Given the description of an element on the screen output the (x, y) to click on. 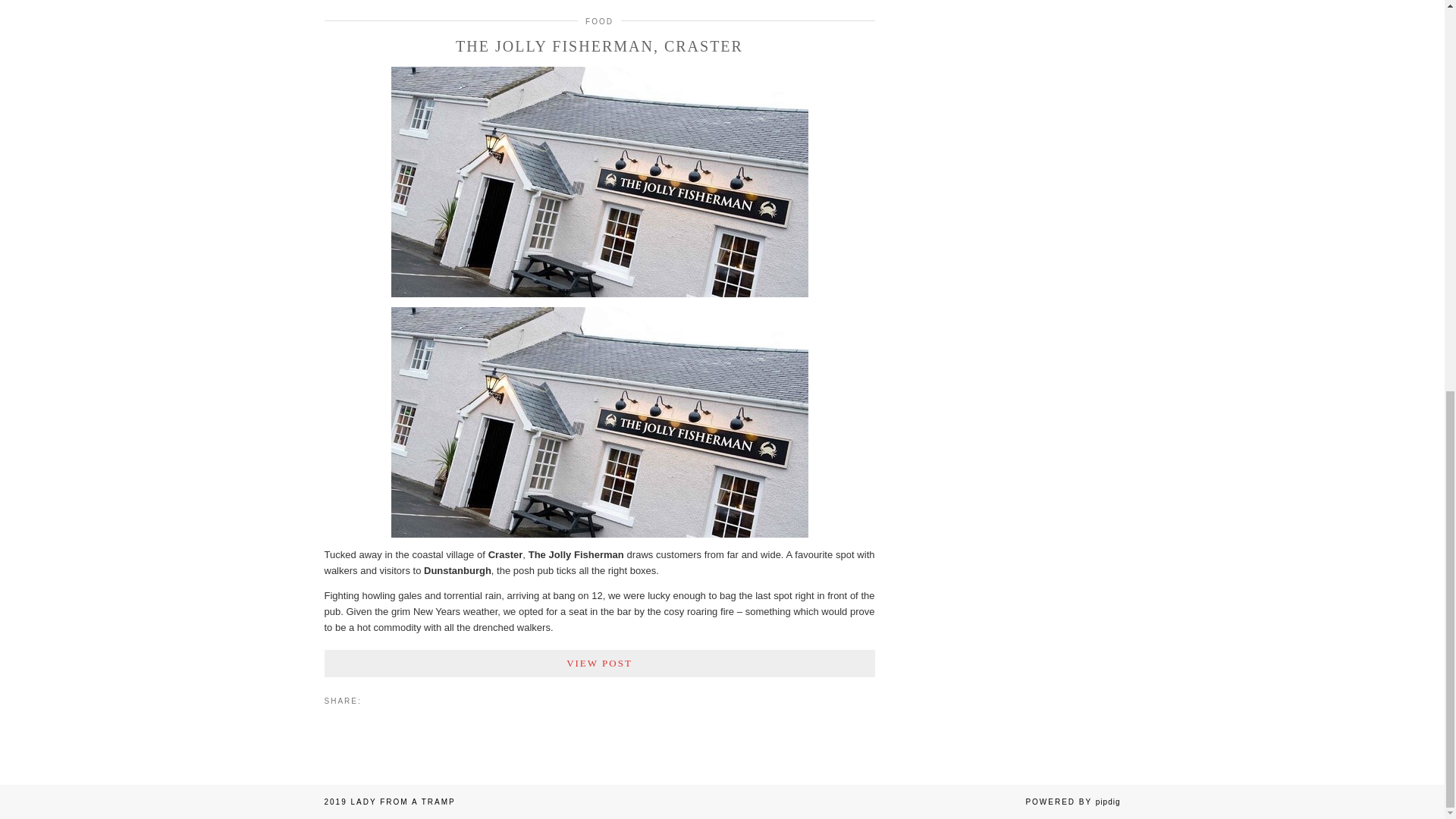
FOOD (598, 21)
THE JOLLY FISHERMAN, CRASTER (598, 45)
VIEW POST (599, 663)
